Given the description of an element on the screen output the (x, y) to click on. 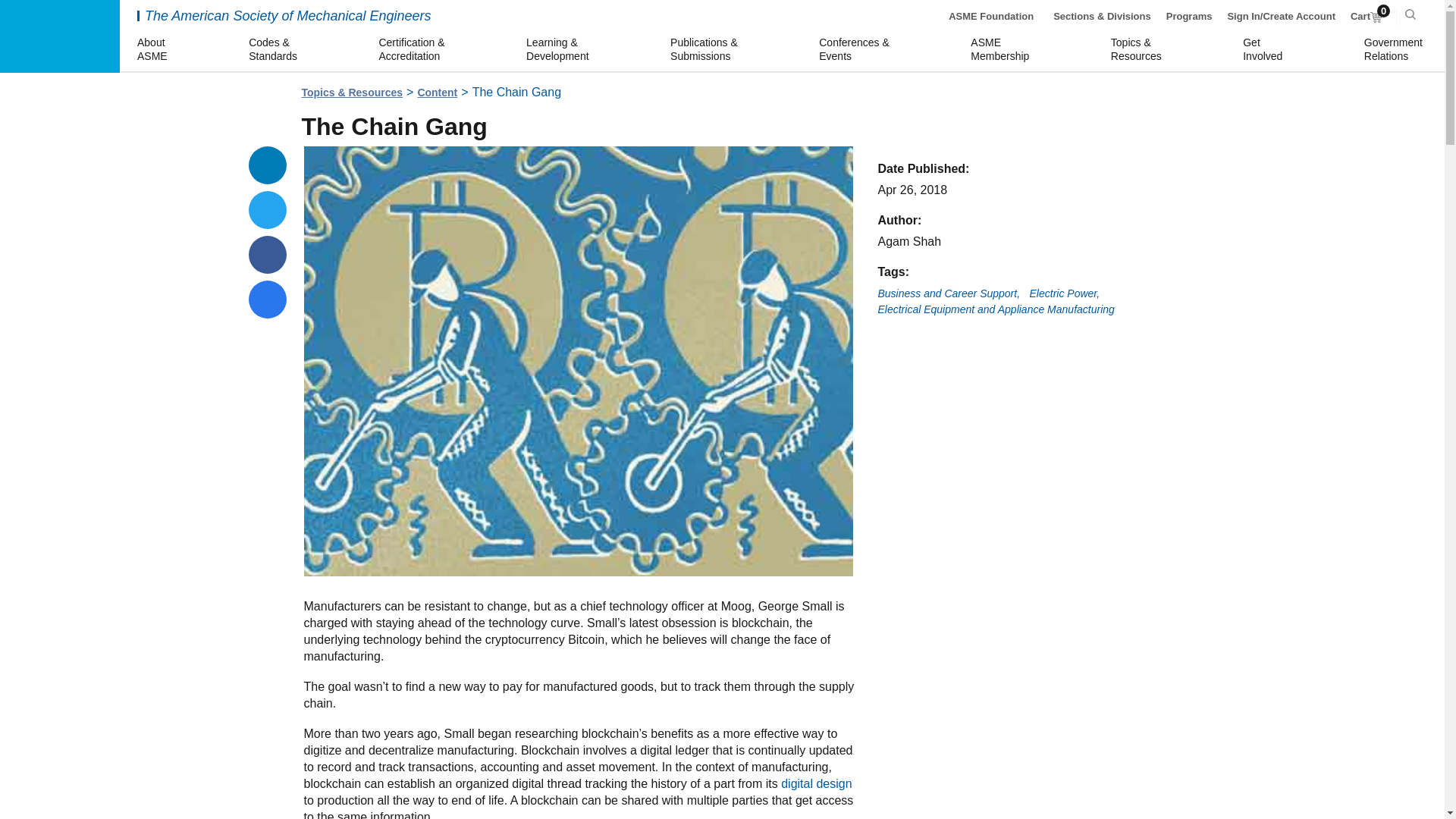
Electric Power (1366, 16)
ASME (1064, 293)
Programs (59, 36)
Share on LinkedIn (1002, 49)
ASME Foundation (1189, 16)
Share on Facebook (267, 165)
Share via email (1265, 49)
